Given the description of an element on the screen output the (x, y) to click on. 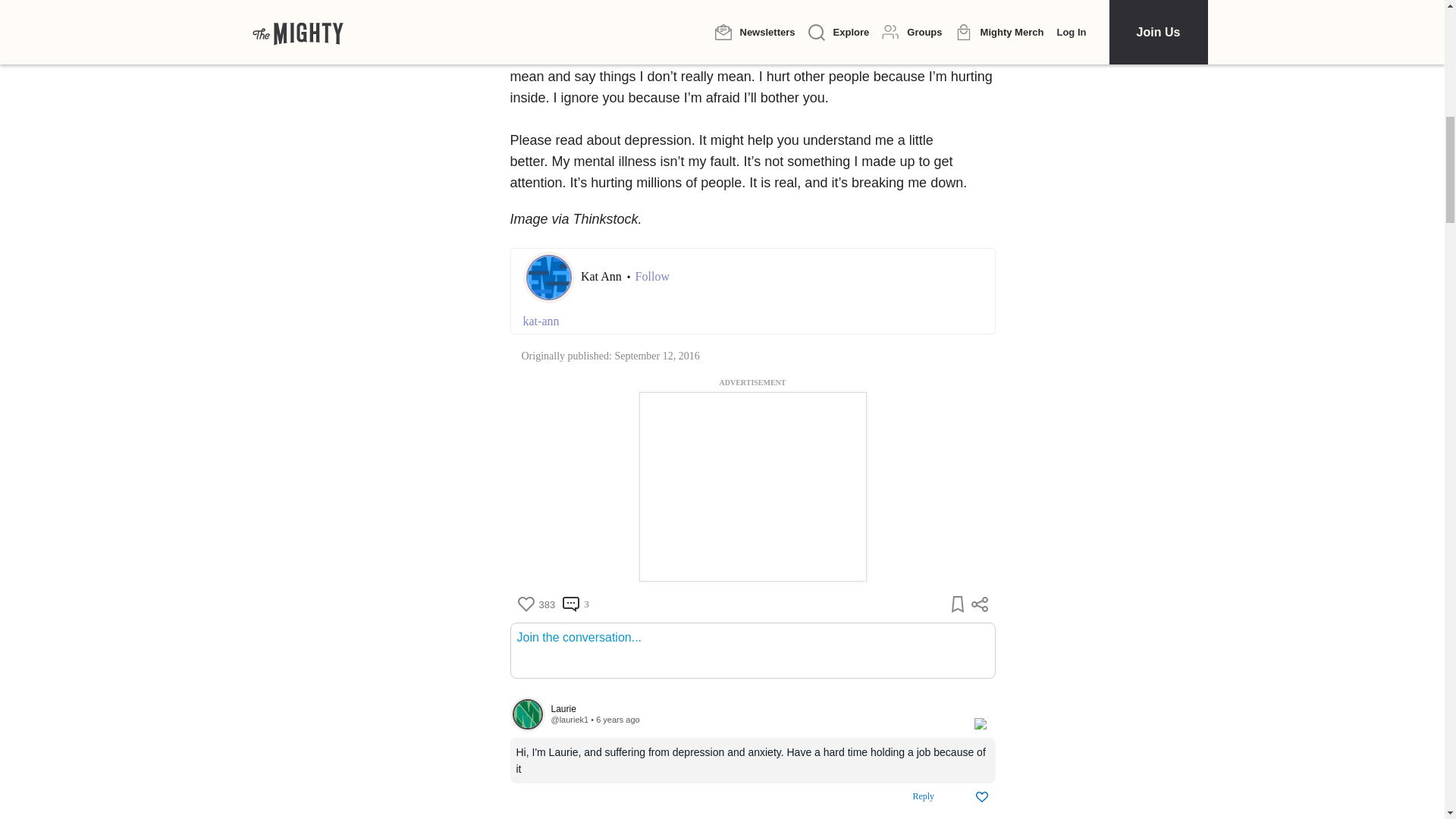
View their profile (526, 714)
kat-ann (752, 321)
I need you to be there for me (815, 13)
View their profile (754, 709)
Kat Ann (602, 276)
Follow (651, 276)
383 (535, 604)
View their profile (569, 718)
